Given the description of an element on the screen output the (x, y) to click on. 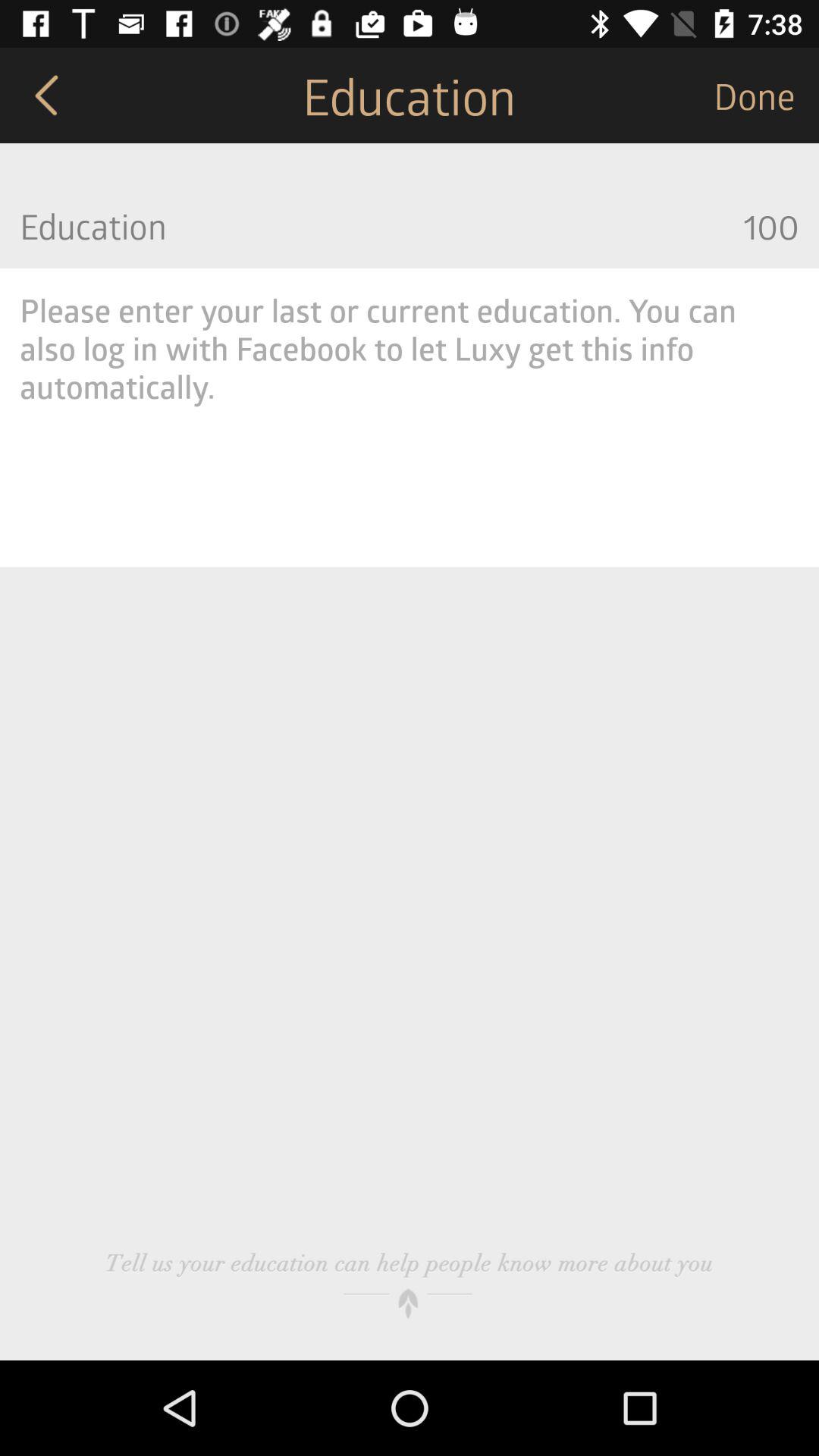
turn off item next to the education icon (766, 95)
